Given the description of an element on the screen output the (x, y) to click on. 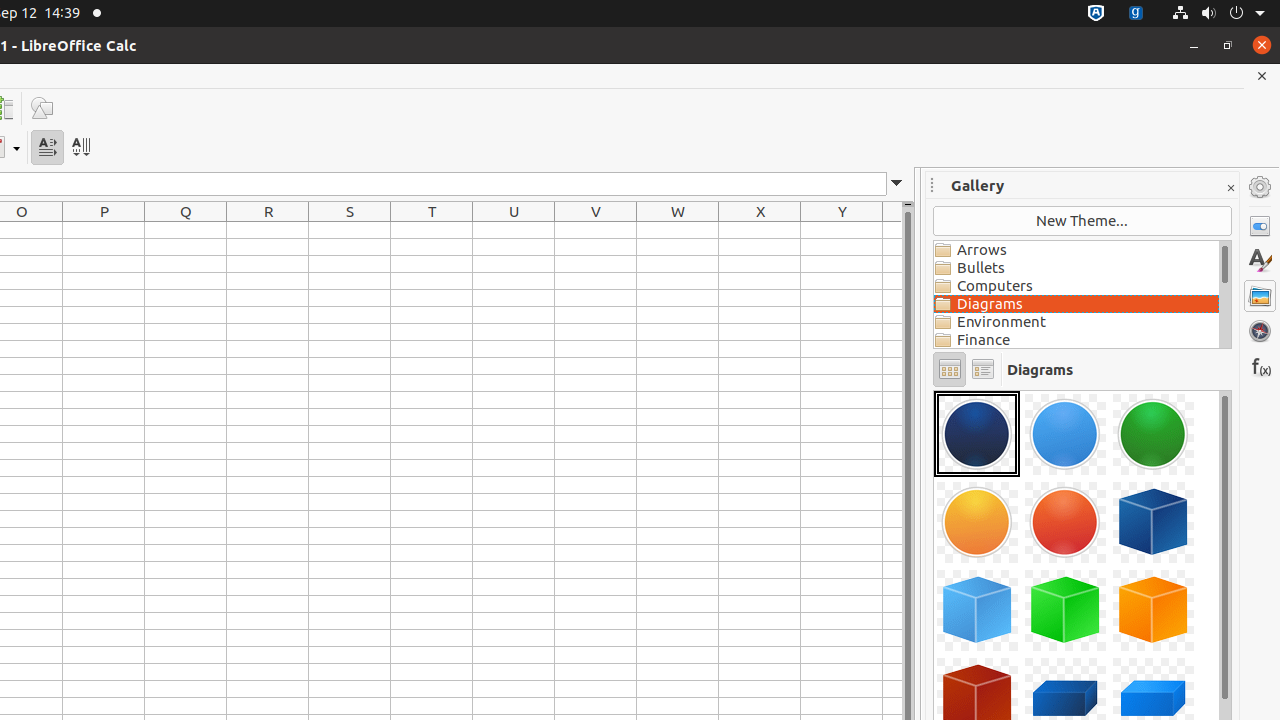
Environment Element type: list-item (1076, 322)
P1 Element type: table-cell (104, 230)
W1 Element type: table-cell (678, 230)
Styles Element type: radio-button (1260, 261)
Component-Cube02-LightBlue Element type: list-item (977, 610)
